Given the description of an element on the screen output the (x, y) to click on. 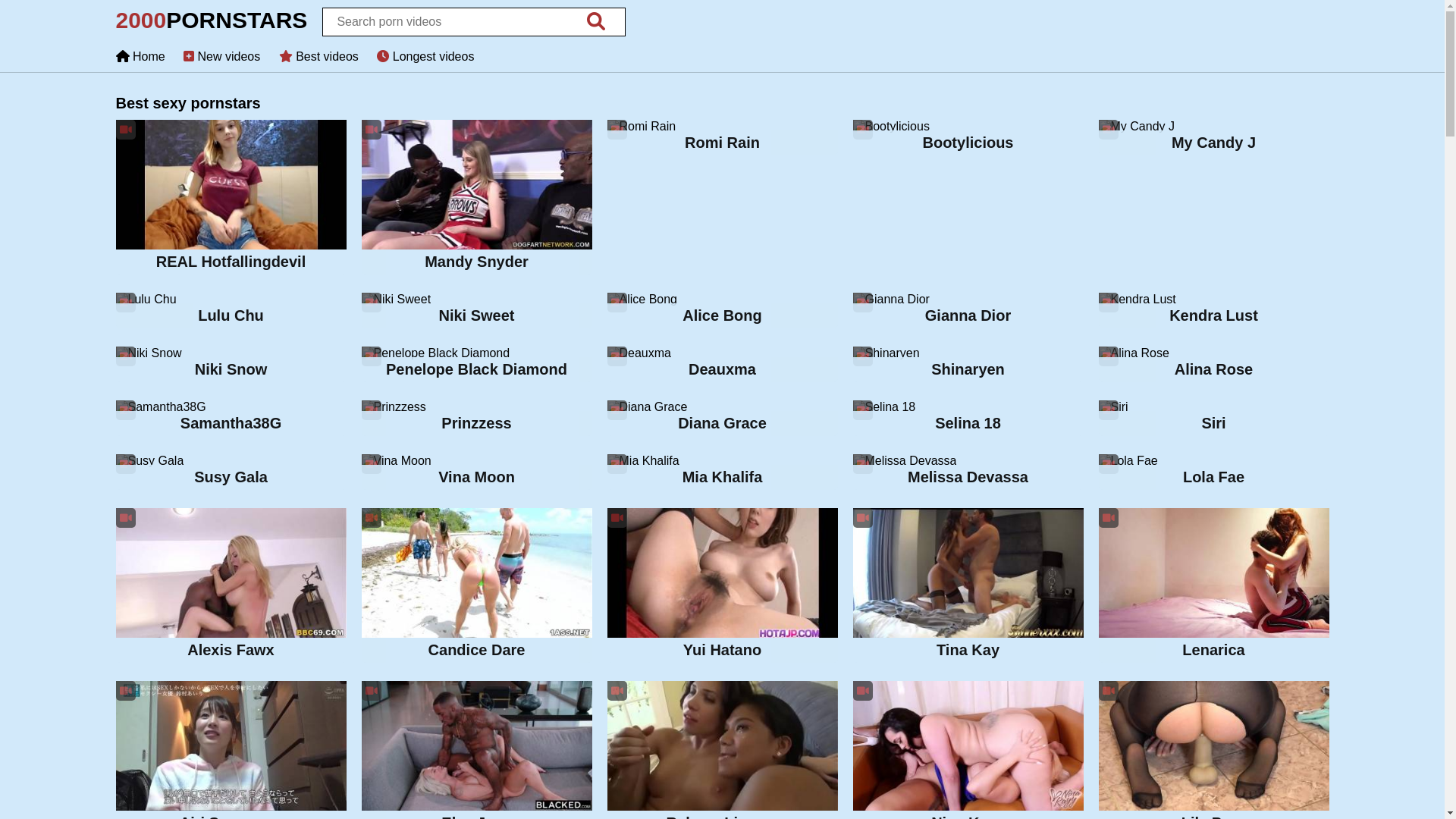
Siri Element type: text (1213, 419)
Lenarica Element type: text (1213, 586)
Kendra Lust Element type: text (1213, 311)
Selina 18 Element type: text (967, 419)
Best videos Element type: text (318, 56)
Candice Dare Element type: text (475, 586)
Gianna Dior Element type: text (967, 311)
REAL Hotfallingdevil Element type: text (230, 198)
2000PORNSTARS Element type: text (211, 24)
Penelope Black Diamond Element type: text (475, 365)
Home Element type: text (139, 56)
Vina Moon Element type: text (475, 473)
Lola Fae Element type: text (1213, 473)
Romi Rain Element type: text (721, 138)
Alina Rose Element type: text (1213, 365)
Lulu Chu Element type: text (230, 311)
Melissa Devassa Element type: text (967, 473)
My Candy J Element type: text (1213, 138)
Mia Khalifa Element type: text (721, 473)
Susy Gala Element type: text (230, 473)
New videos Element type: text (221, 56)
Niki Snow Element type: text (230, 365)
Longest videos Element type: text (424, 56)
Prinzzess Element type: text (475, 419)
Mandy Snyder Element type: text (475, 198)
Diana Grace Element type: text (721, 419)
Tina Kay Element type: text (967, 586)
Alice Bong Element type: text (721, 311)
Bootylicious Element type: text (967, 138)
Niki Sweet Element type: text (475, 311)
Samantha38G Element type: text (230, 419)
Alexis Fawx Element type: text (230, 586)
Deauxma Element type: text (721, 365)
Shinaryen Element type: text (967, 365)
Yui Hatano Element type: text (721, 586)
